Given the description of an element on the screen output the (x, y) to click on. 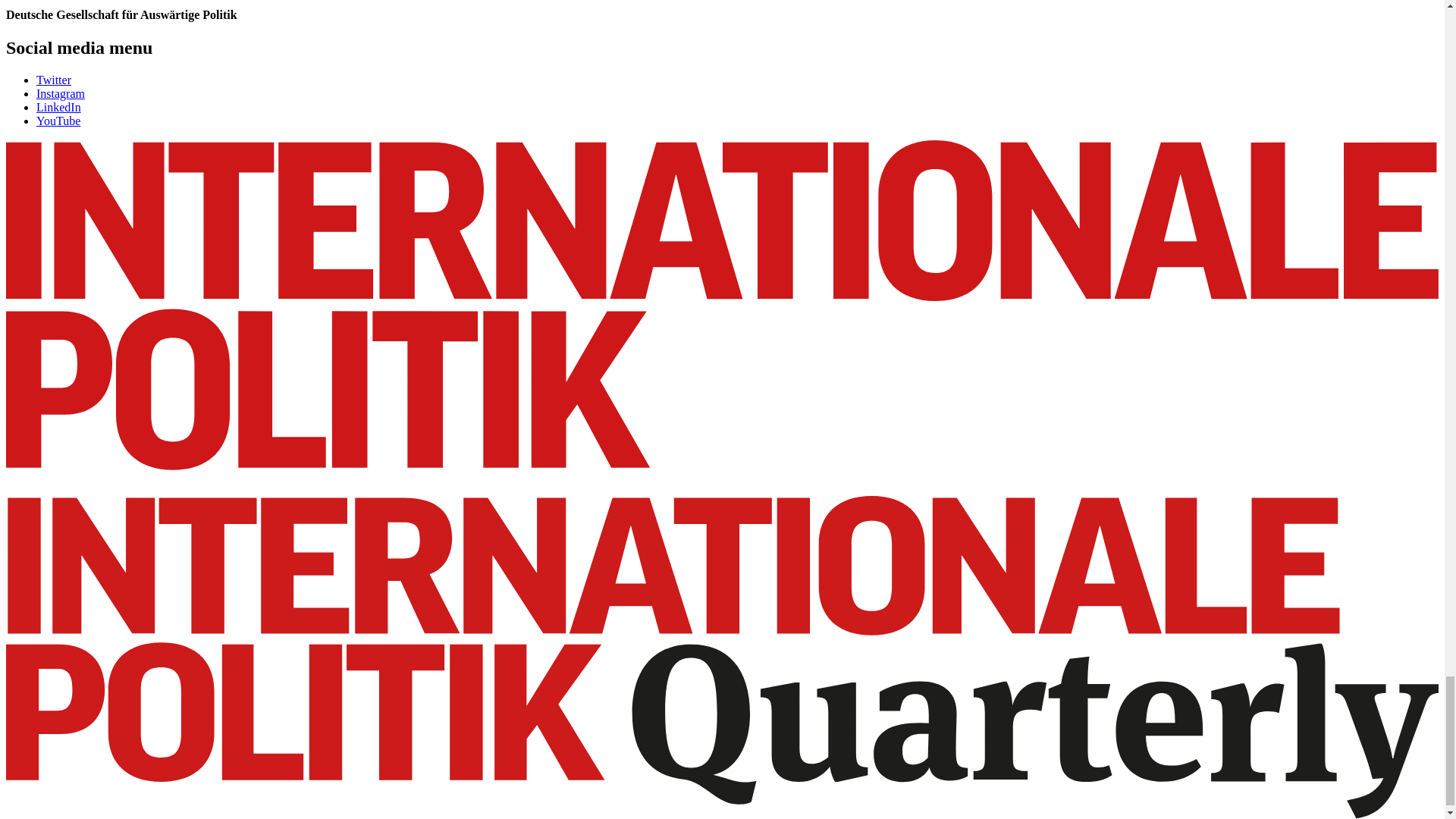
LinkedIn (58, 106)
